Given the description of an element on the screen output the (x, y) to click on. 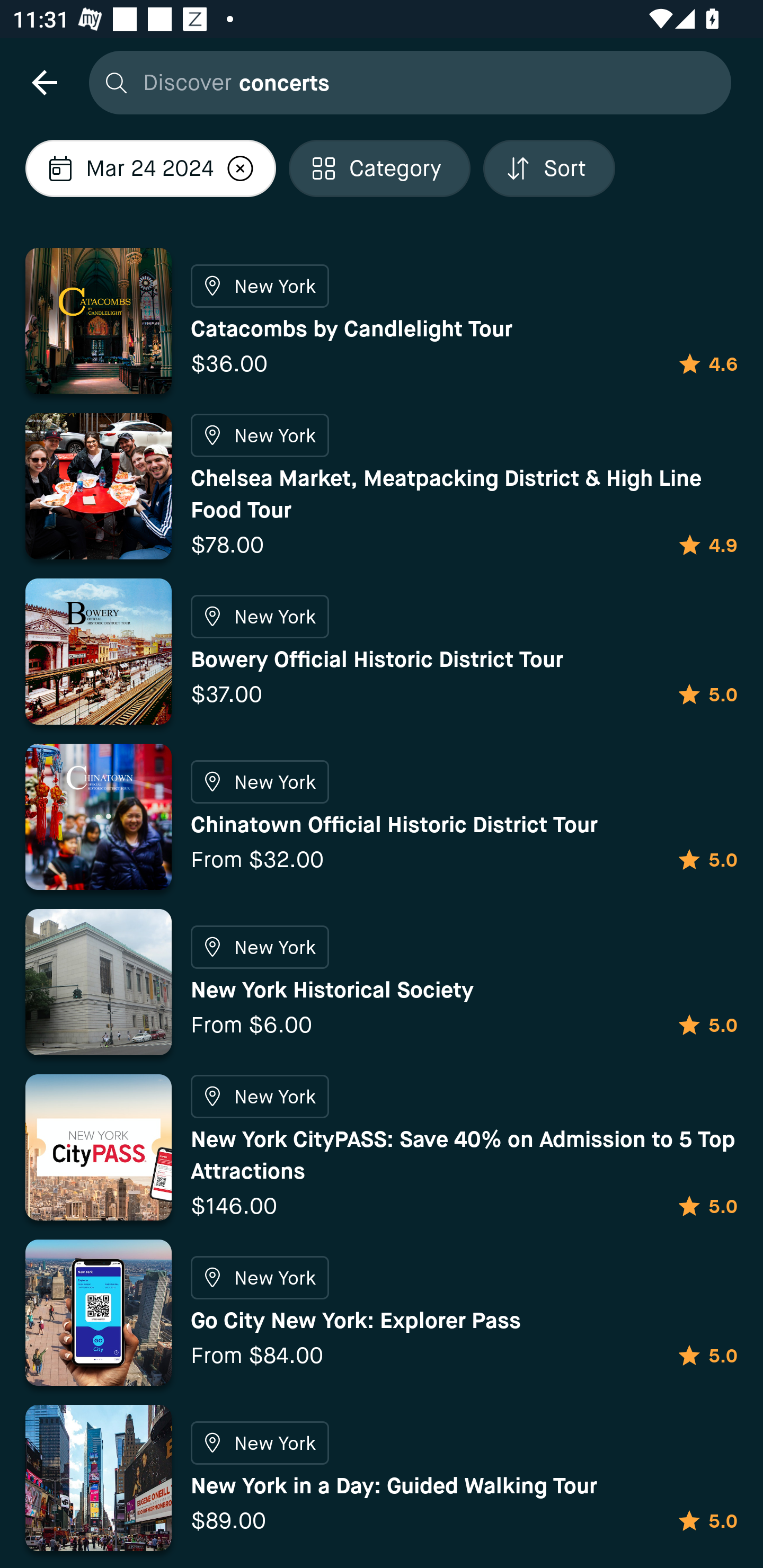
navigation icon (44, 81)
Discover concerts (405, 81)
Localized description (240, 168)
Localized description Category (379, 168)
Localized description Sort (548, 168)
